Given the description of an element on the screen output the (x, y) to click on. 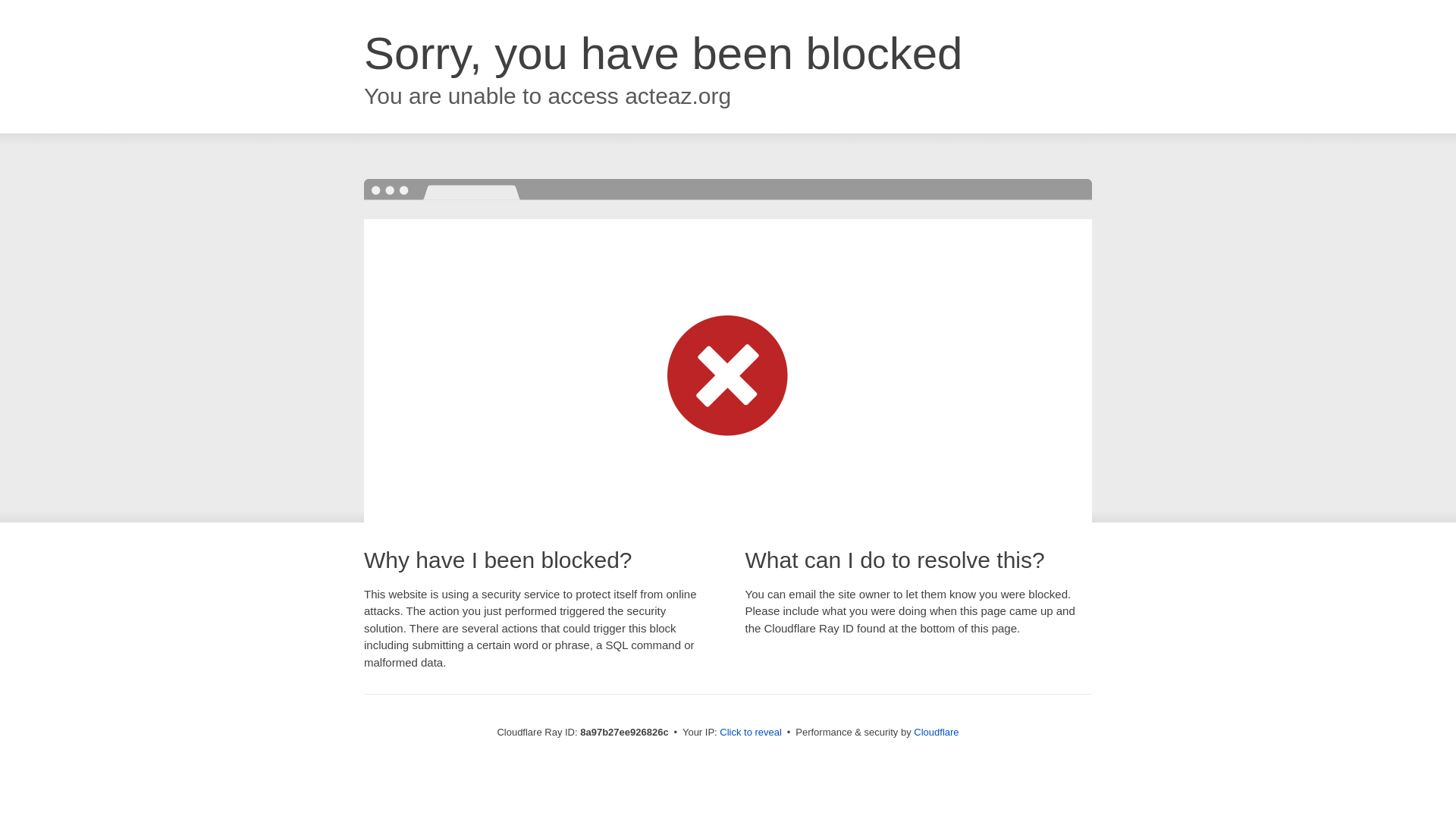
Click to reveal (750, 732)
Cloudflare (936, 731)
